Given the description of an element on the screen output the (x, y) to click on. 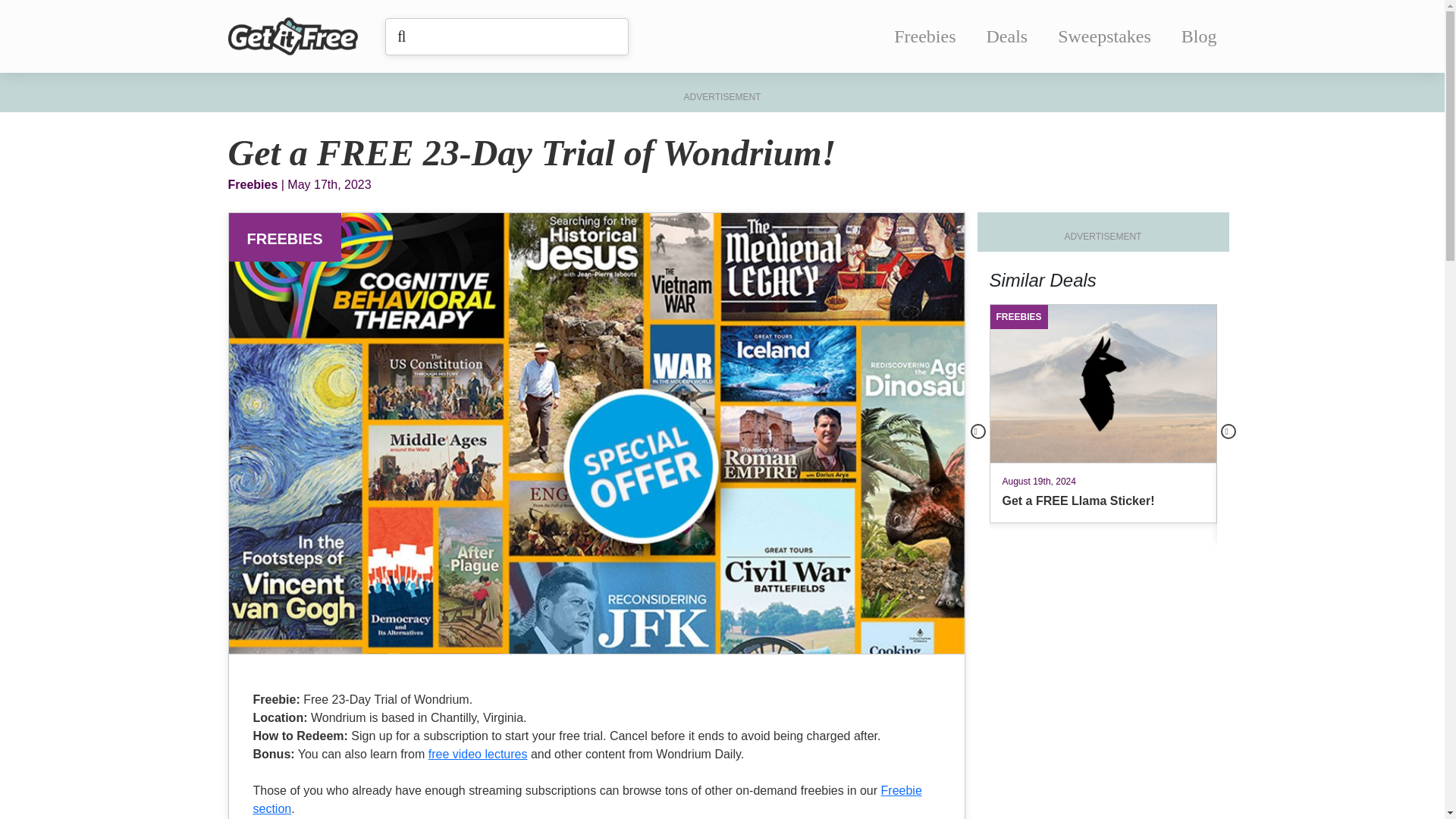
Deals (1007, 35)
Freebie (900, 789)
Next (1101, 413)
Freebies (1228, 431)
free video lectures (924, 35)
Blog (477, 753)
Previous (1198, 35)
section (978, 431)
Sweepstakes (272, 808)
